Given the description of an element on the screen output the (x, y) to click on. 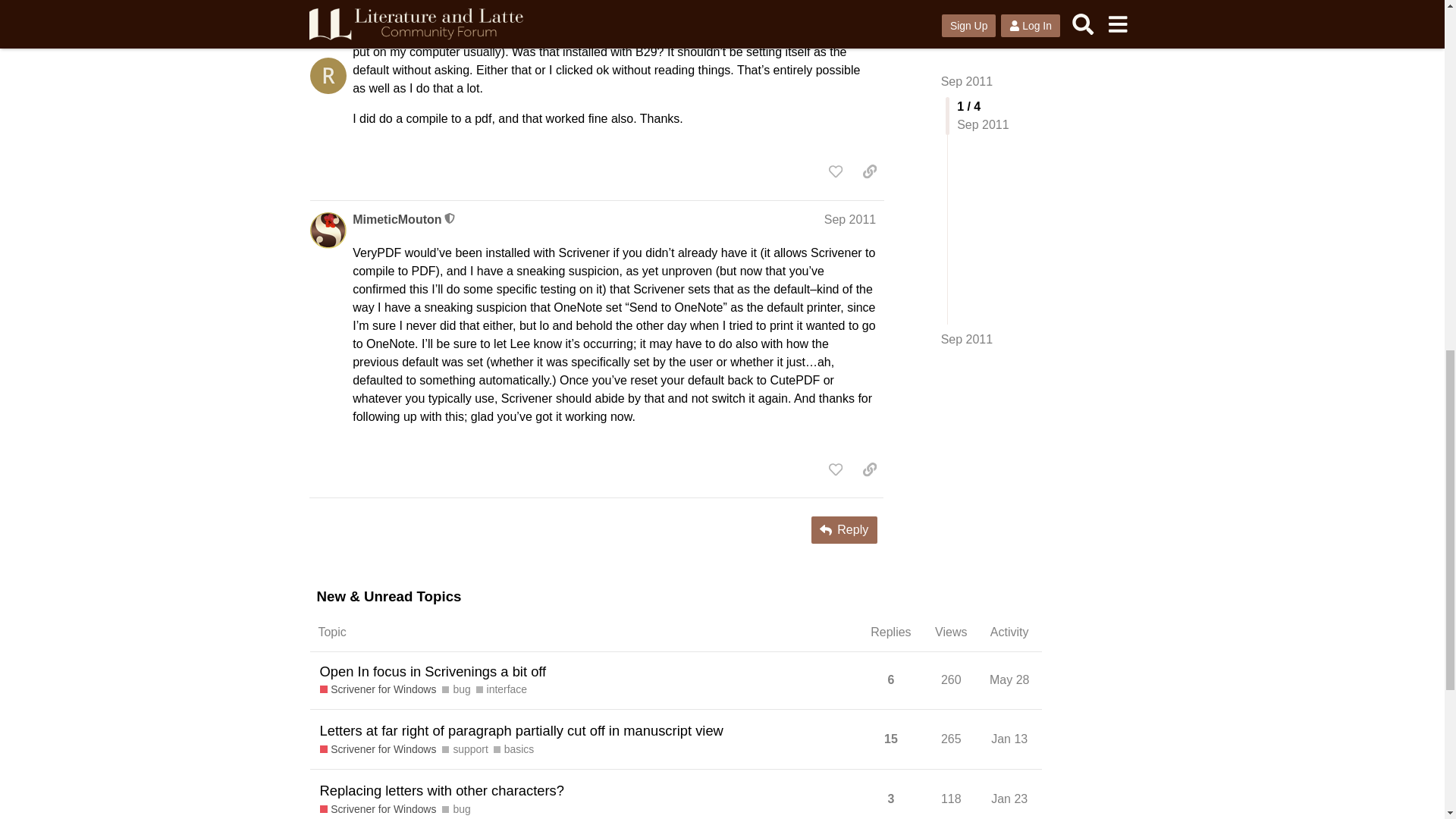
MimeticMouton (396, 219)
Sep 2011 (850, 219)
